Given the description of an element on the screen output the (x, y) to click on. 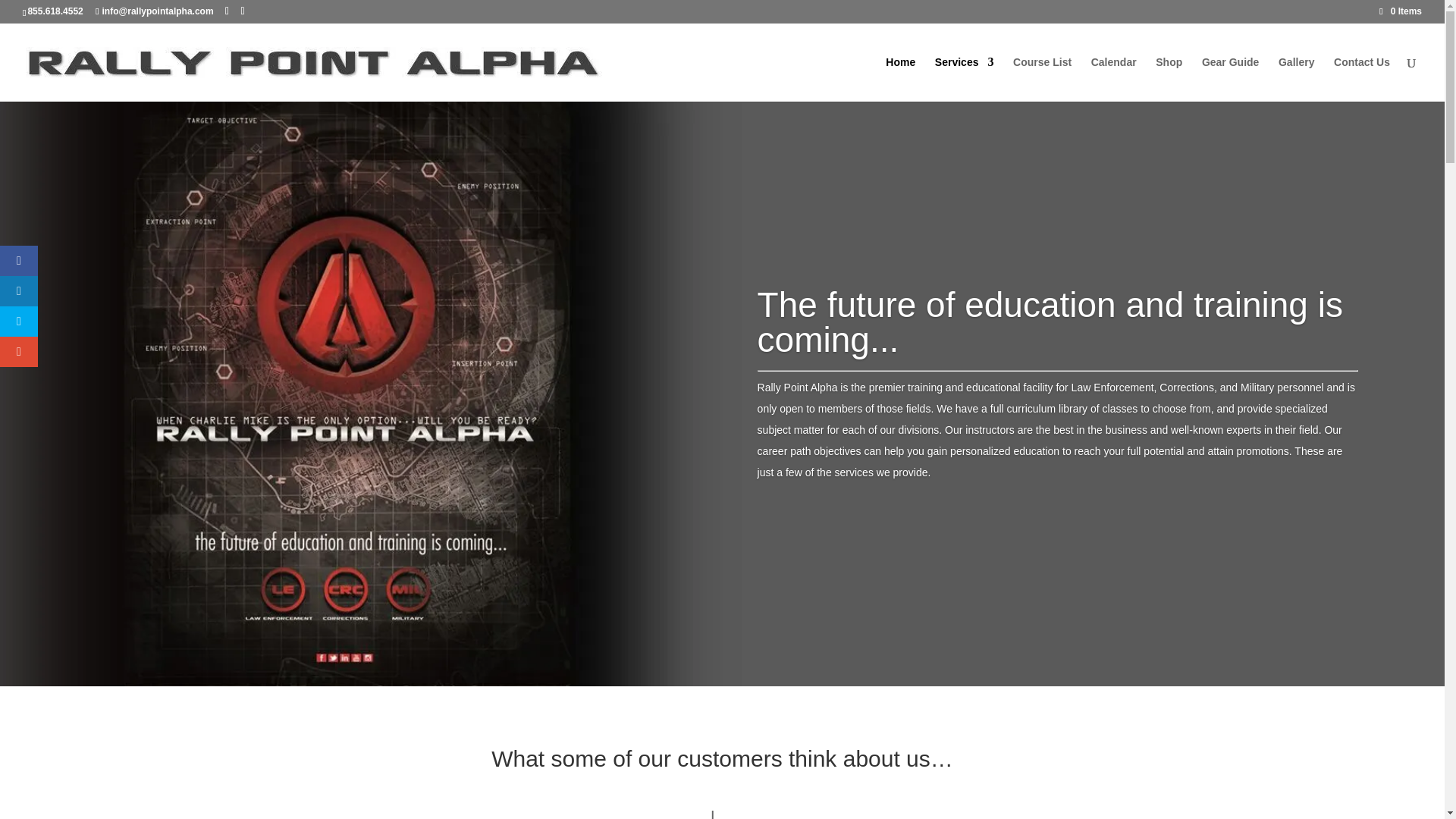
Contact Us (1361, 78)
0 Items (1400, 10)
Course List (1042, 78)
Calendar (1113, 78)
Services (964, 78)
Gear Guide (1230, 78)
